Given the description of an element on the screen output the (x, y) to click on. 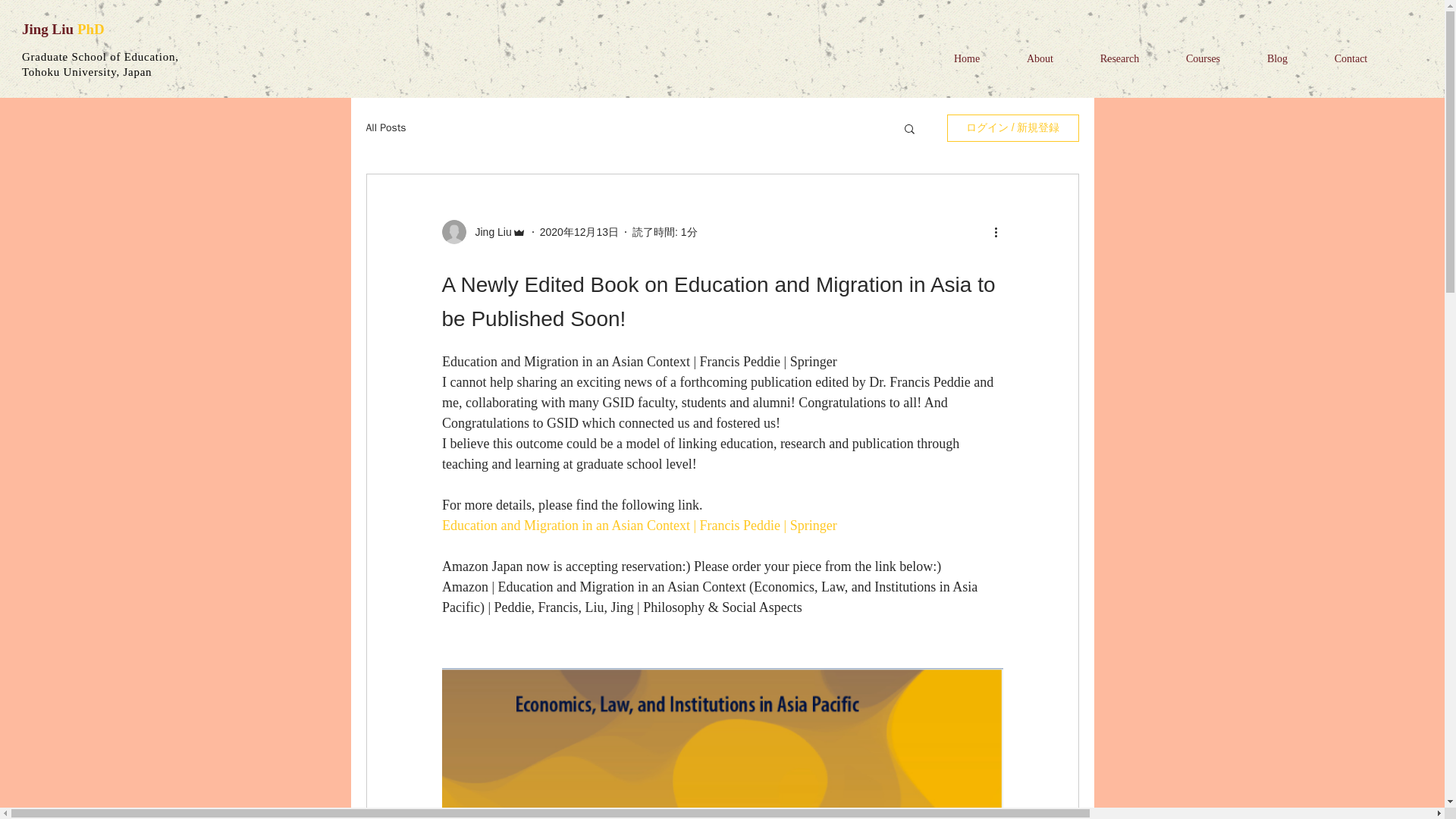
Research (1119, 58)
About (1040, 58)
Contact (1350, 58)
Jing Liu (488, 232)
All Posts (385, 128)
PhD (90, 28)
Courses (1202, 58)
Home (966, 58)
Blog (1277, 58)
